Given the description of an element on the screen output the (x, y) to click on. 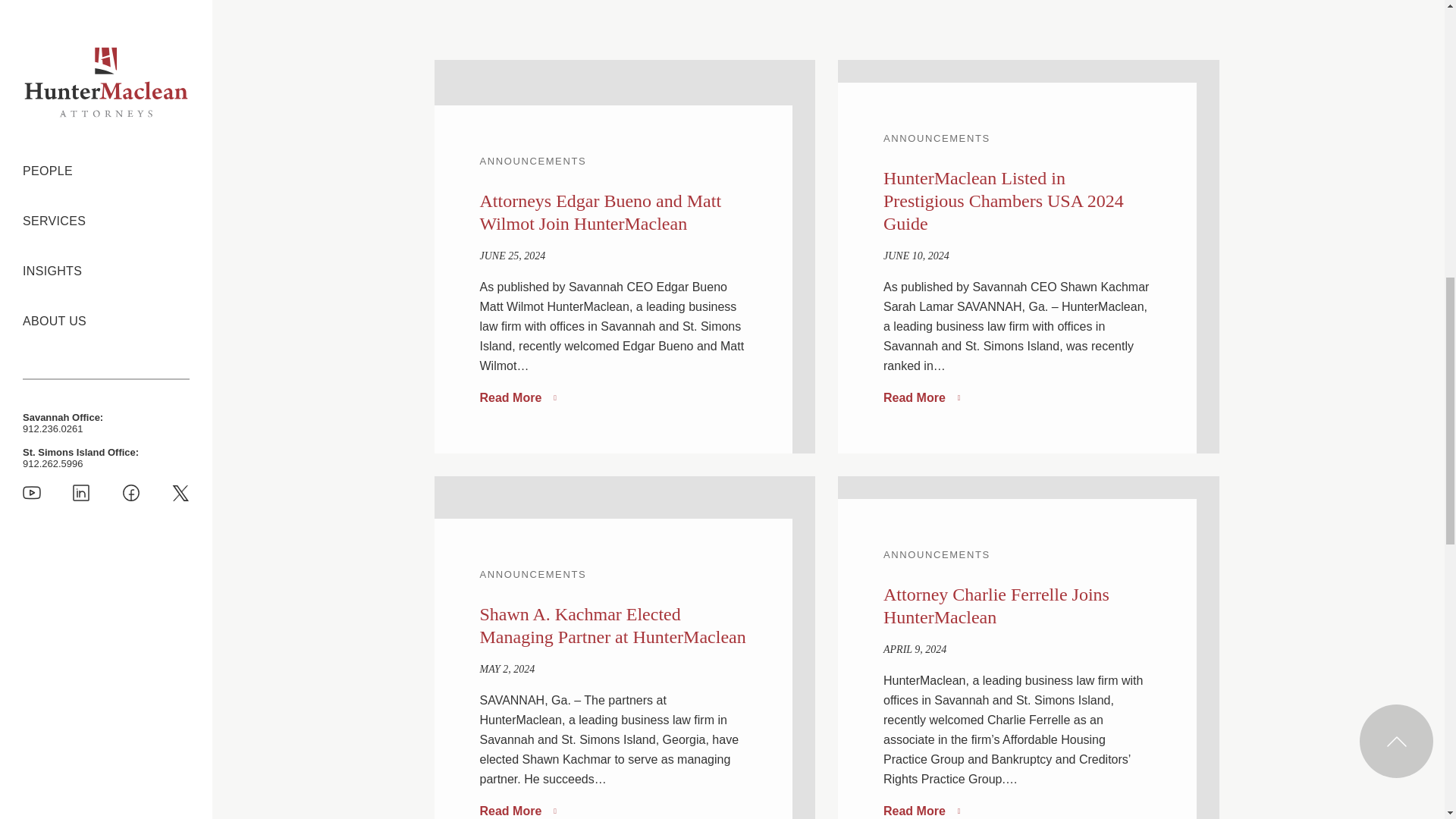
Read More (921, 397)
Shawn A. Kachmar Elected Managing Partner at HunterMaclean (612, 625)
Attorney Charlie Ferrelle Joins HunterMaclean (996, 605)
ANNOUNCEMENTS (532, 573)
ANNOUNCEMENTS (936, 554)
Attorneys Edgar Bueno and Matt Wilmot Join HunterMaclean (599, 211)
HunterMaclean Listed in Prestigious Chambers USA 2024 Guide (1003, 200)
ANNOUNCEMENTS (936, 138)
Read More (517, 397)
ANNOUNCEMENTS (532, 161)
Read More (921, 810)
Read More (517, 810)
